Given the description of an element on the screen output the (x, y) to click on. 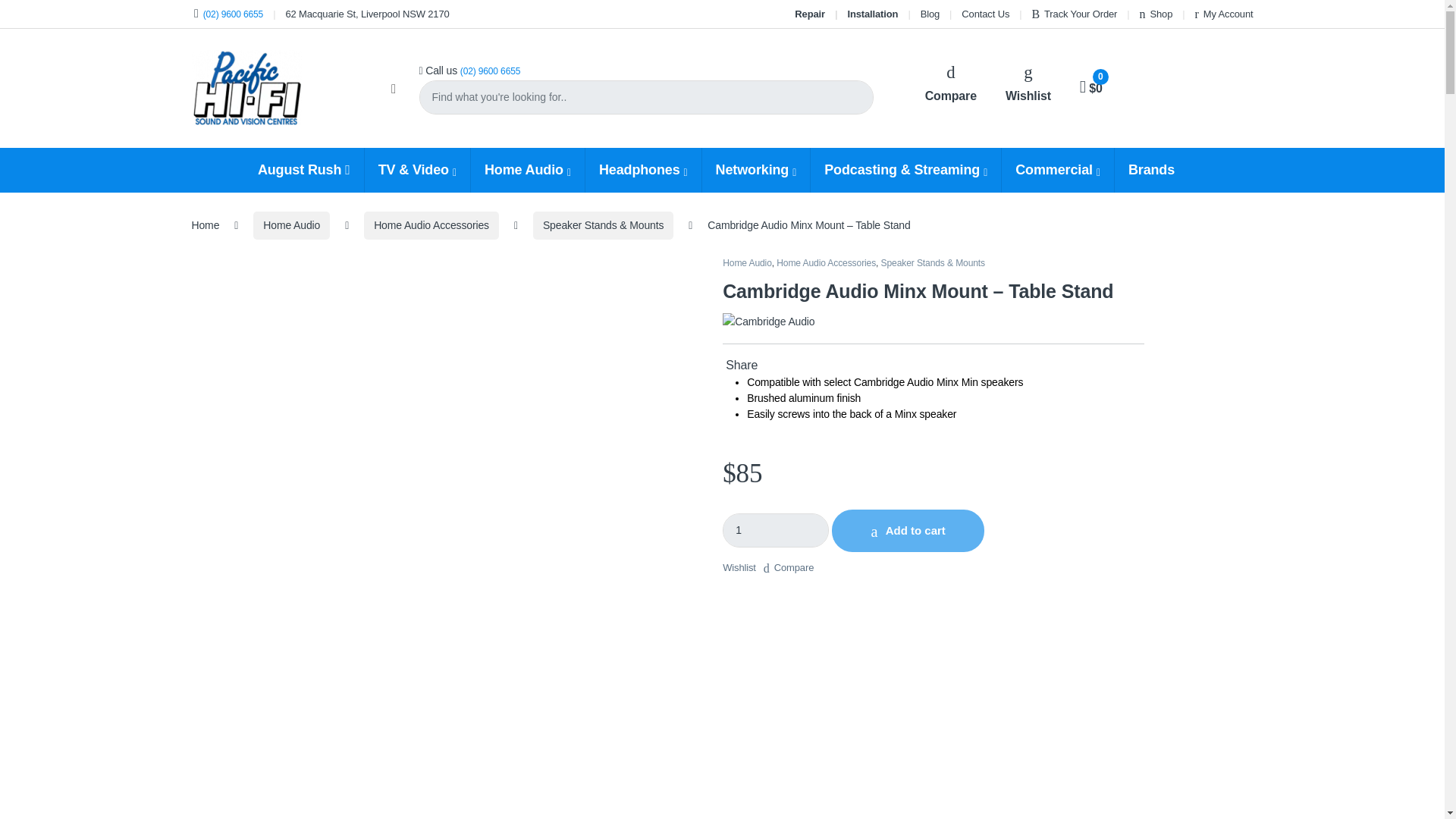
Shop (1156, 13)
62 Macquarie St, Liverpool NSW 2170 (366, 13)
Installation (872, 13)
Track Your Order (1073, 13)
Shop (1156, 13)
Contact Us (984, 13)
62 Macquarie St, Liverpool NSW 2170 (366, 13)
1 (775, 530)
Repair (809, 13)
My Account (1224, 13)
